Given the description of an element on the screen output the (x, y) to click on. 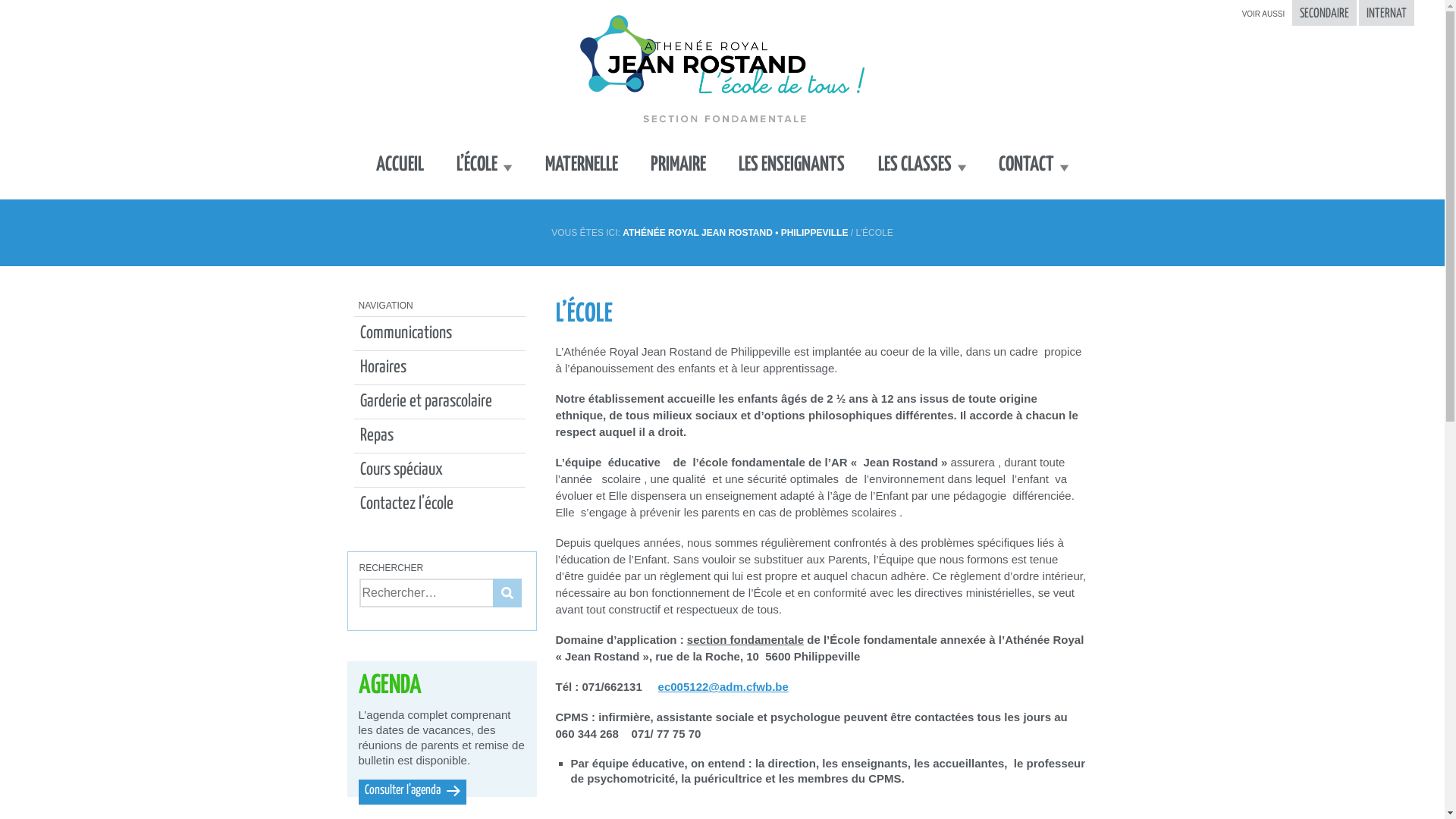
PRIMAIRE Element type: text (678, 163)
ACCUEIL Element type: text (399, 163)
Communications Element type: text (427, 333)
MATERNELLE Element type: text (581, 163)
LES CLASSES Element type: text (921, 164)
INTERNAT Element type: text (1386, 12)
ec005122@adm.cfwb.be Element type: text (723, 686)
Repas Element type: text (427, 435)
CONTACT Element type: text (1033, 164)
Rechercher Element type: text (506, 592)
Garderie et parascolaire Element type: text (427, 401)
LES ENSEIGNANTS Element type: text (791, 163)
SECONDAIRE Element type: text (1324, 12)
Horaires Element type: text (427, 367)
